Given the description of an element on the screen output the (x, y) to click on. 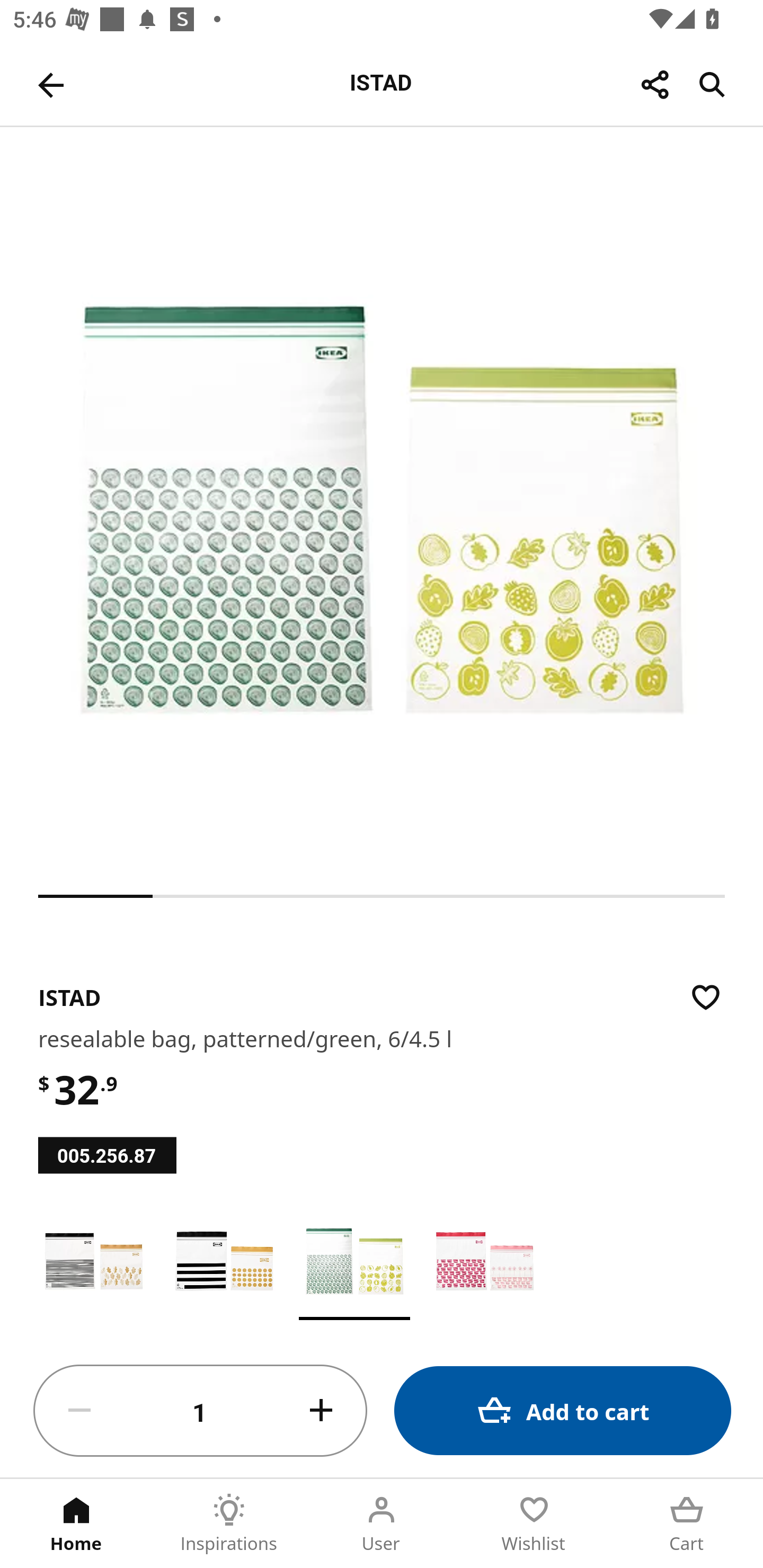
Add to cart (562, 1410)
1 (200, 1411)
Home
Tab 1 of 5 (76, 1522)
Inspirations
Tab 2 of 5 (228, 1522)
User
Tab 3 of 5 (381, 1522)
Wishlist
Tab 4 of 5 (533, 1522)
Cart
Tab 5 of 5 (686, 1522)
